Given the description of an element on the screen output the (x, y) to click on. 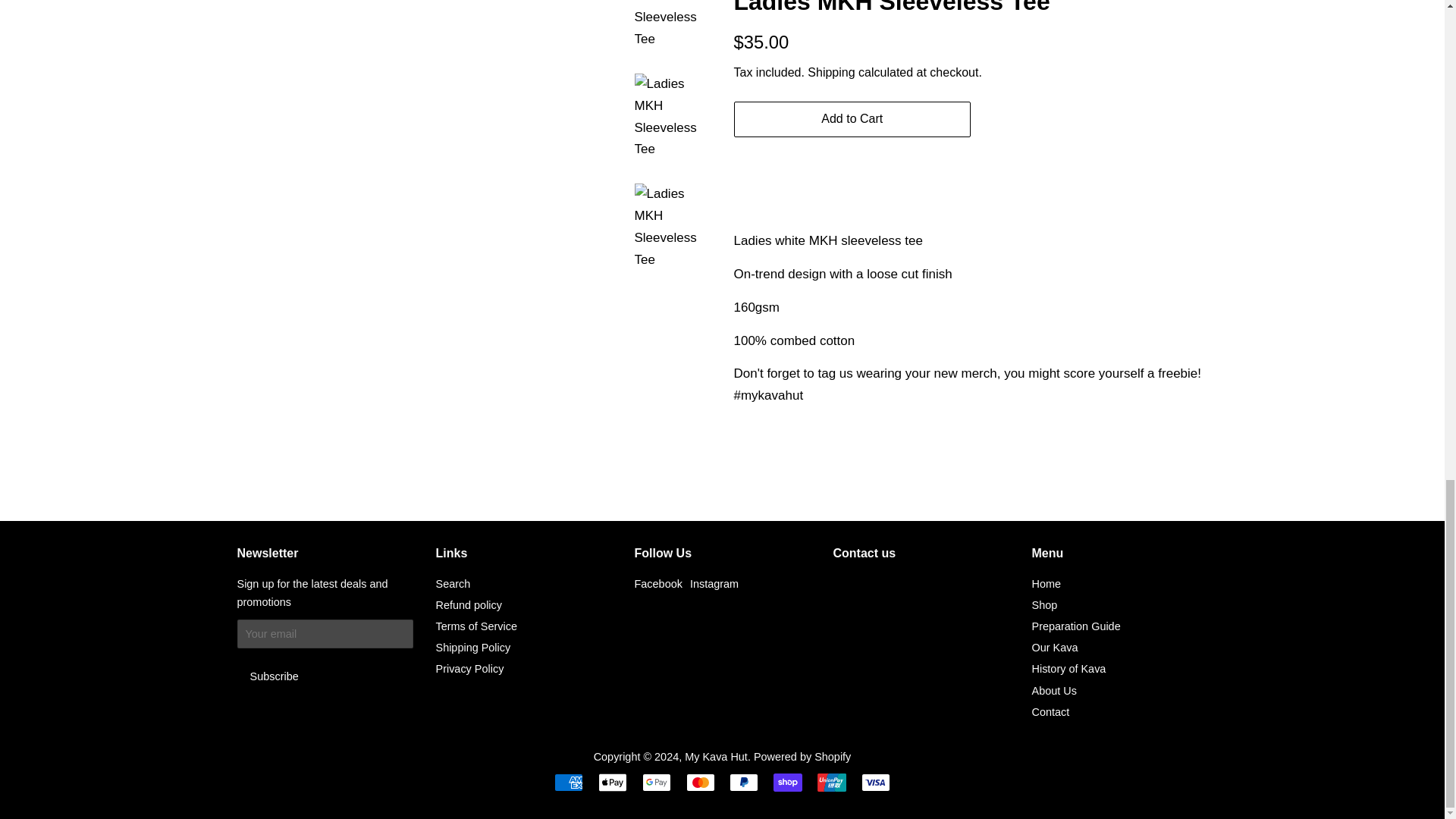
Union Pay (830, 782)
My Kava Hut on Facebook (657, 583)
Shipping (831, 72)
Add to Cart (852, 119)
Terms of Service (475, 625)
Subscribe (273, 676)
Refund policy (467, 604)
Shipping Policy (473, 647)
My Kava Hut on Instagram (714, 583)
Google Pay (656, 782)
